Given the description of an element on the screen output the (x, y) to click on. 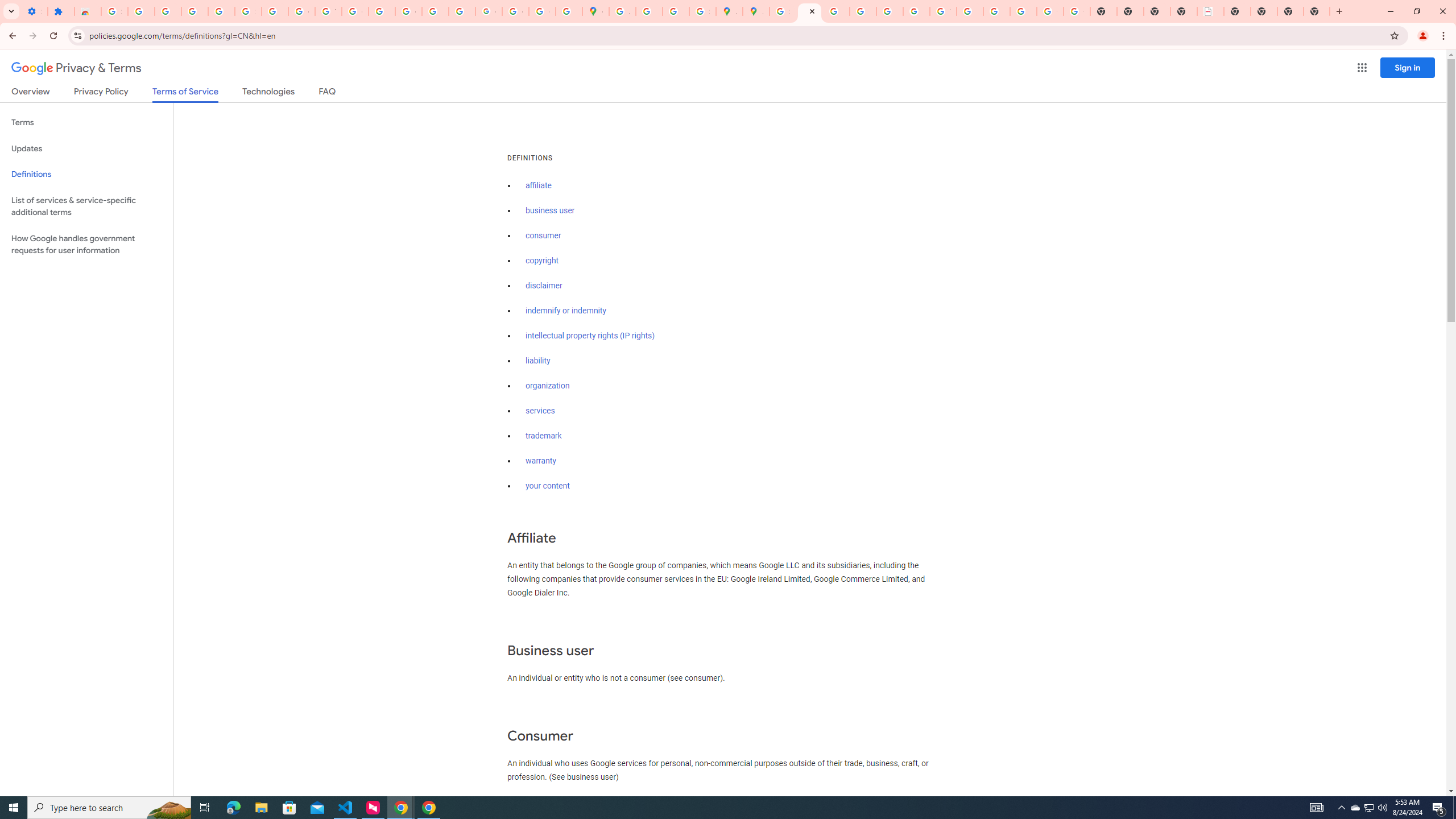
business user (550, 210)
YouTube (328, 11)
Privacy Policy (100, 93)
Learn how to find your photos - Google Photos Help (194, 11)
Safety in Our Products - Google Safety Center (702, 11)
consumer (543, 235)
Terms of Service (184, 94)
Sign in - Google Accounts (114, 11)
Sign in - Google Accounts (782, 11)
